Given the description of an element on the screen output the (x, y) to click on. 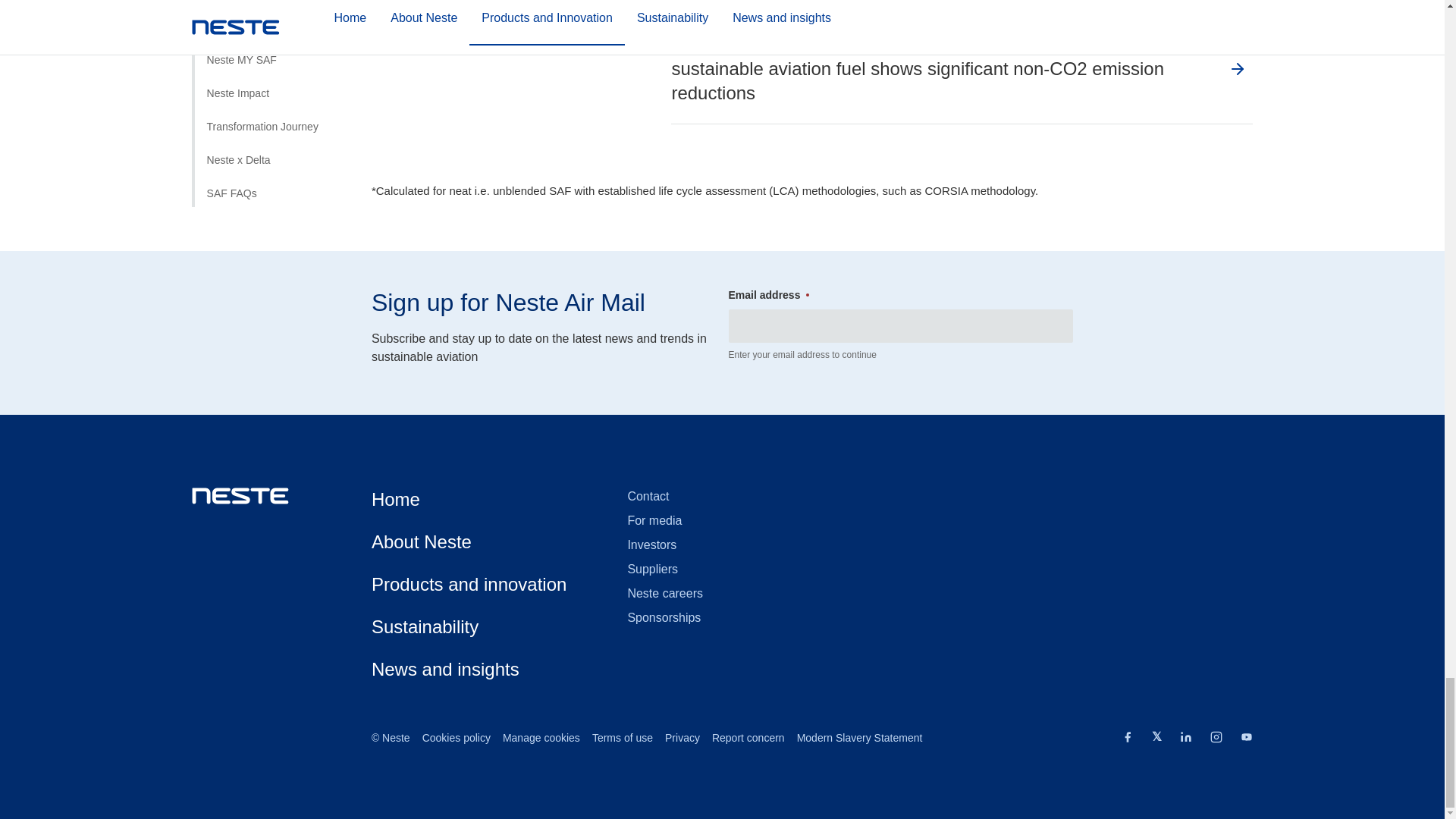
Facebook (1127, 738)
Manage cookies (540, 738)
X (1156, 736)
